Given the description of an element on the screen output the (x, y) to click on. 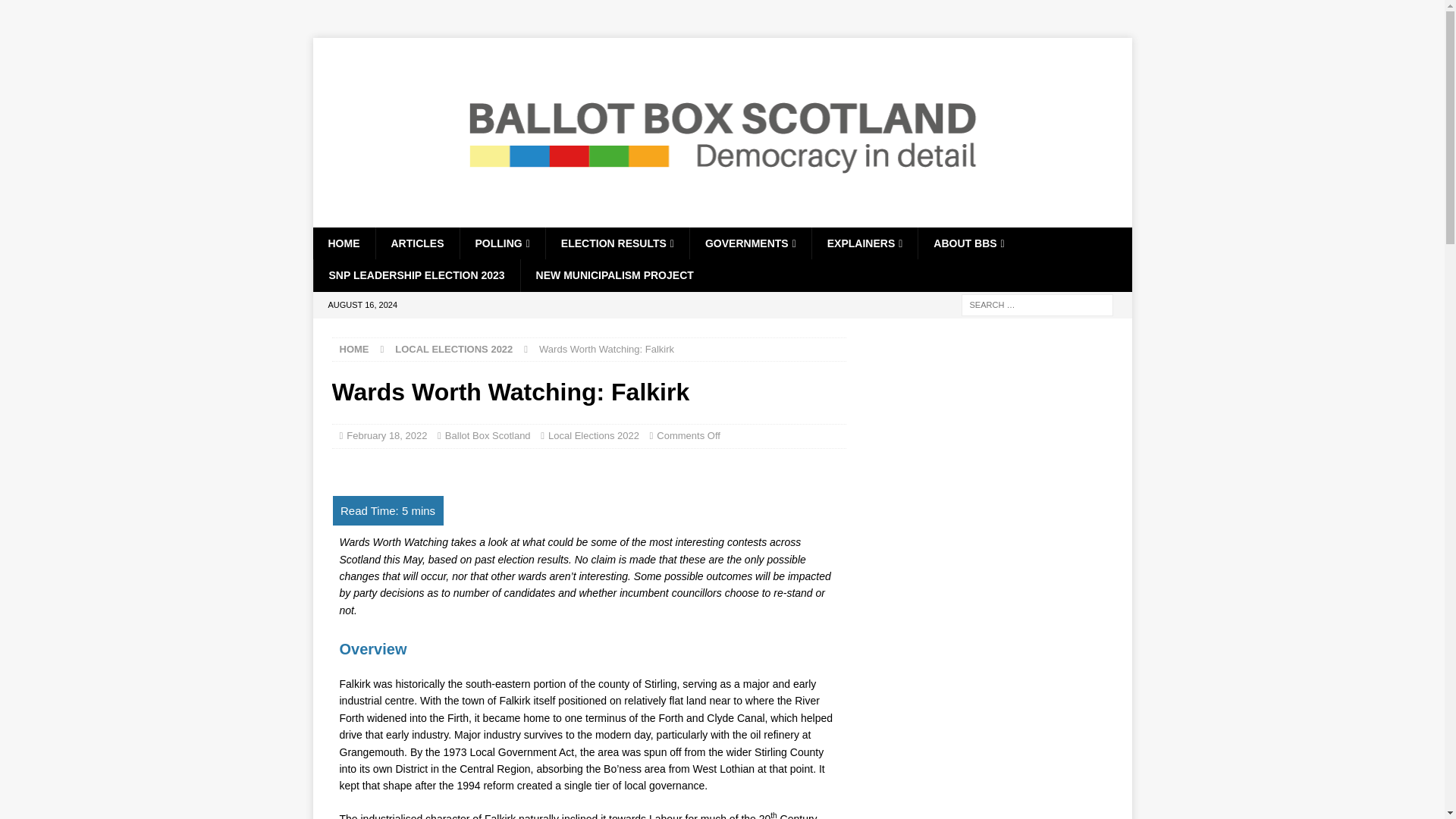
POLLING (502, 243)
ARTICLES (416, 243)
ELECTION RESULTS (616, 243)
HOME (343, 243)
Ballot Box Scotland (722, 218)
